Given the description of an element on the screen output the (x, y) to click on. 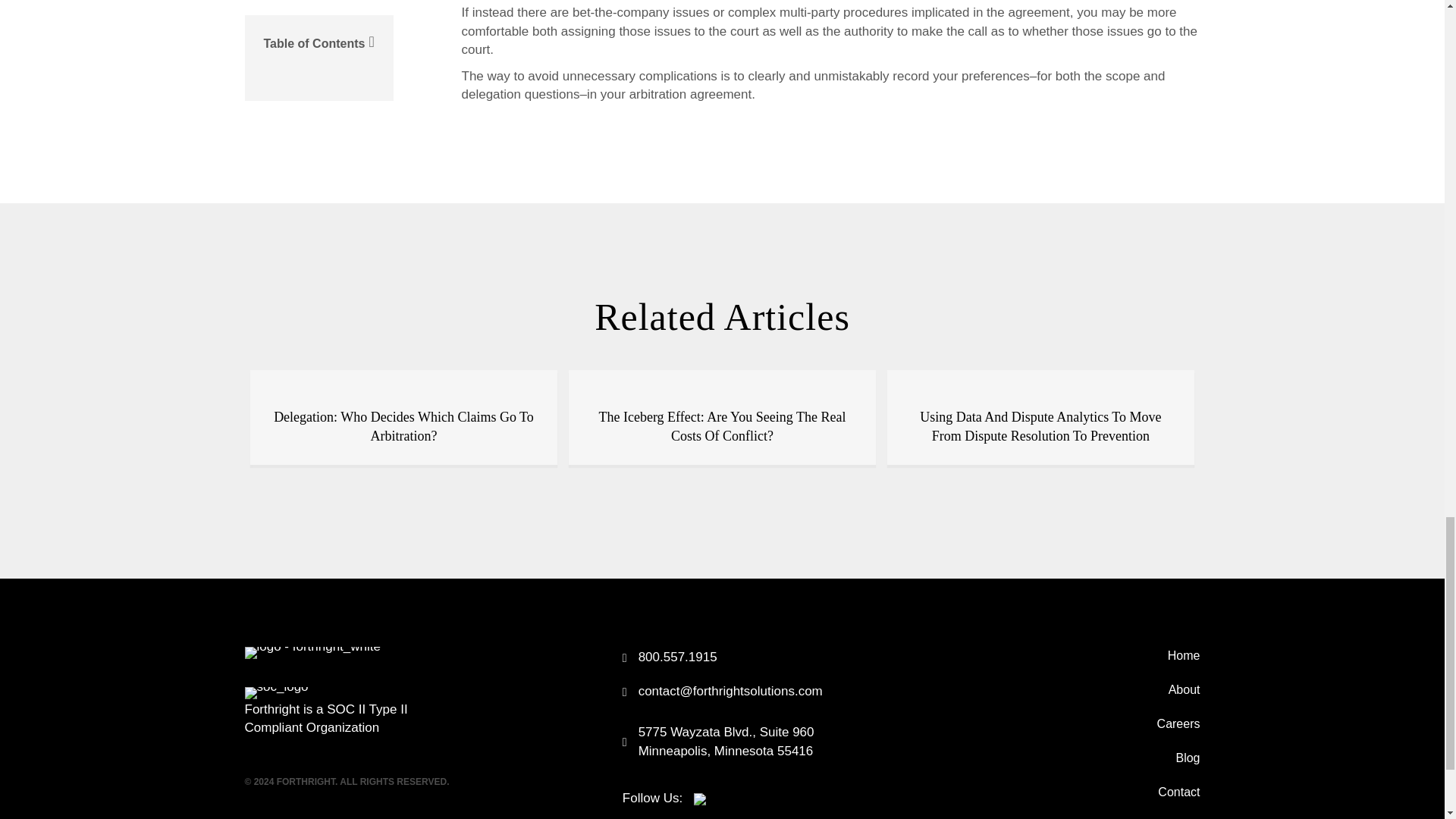
800.557.1915 (678, 657)
Delegation: Who decides which claims go to arbitration? (403, 378)
Follow Us: (664, 798)
Contact (1050, 792)
Careers (1050, 724)
Home (1050, 655)
Delegation: Who decides which claims go to arbitration? (403, 426)
Blog (1050, 758)
